Given the description of an element on the screen output the (x, y) to click on. 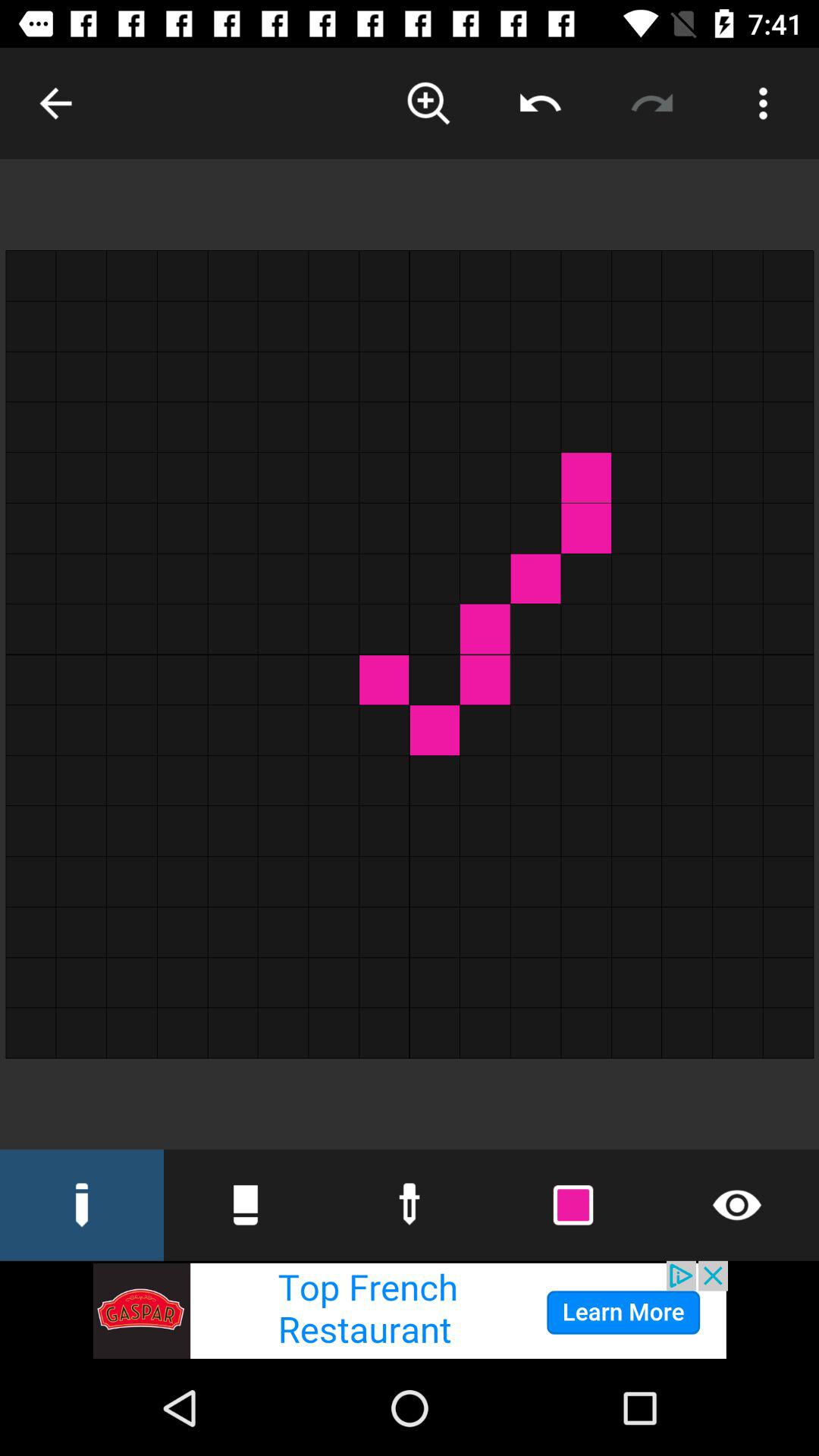
top french restaurant add (409, 1310)
